Given the description of an element on the screen output the (x, y) to click on. 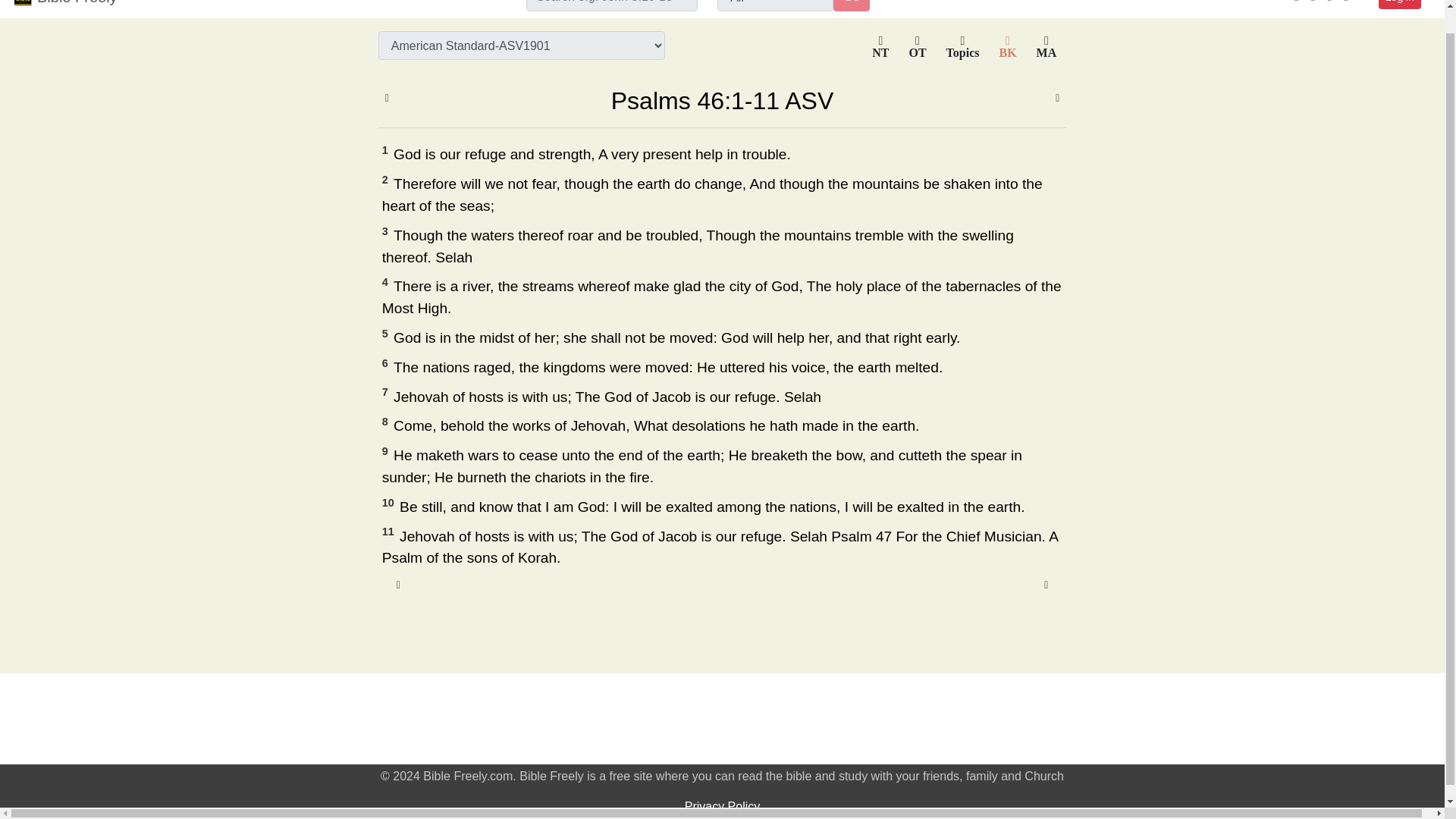
Go (850, 5)
Log in (1399, 4)
Bible Freely (77, 6)
Go (850, 5)
